Given the description of an element on the screen output the (x, y) to click on. 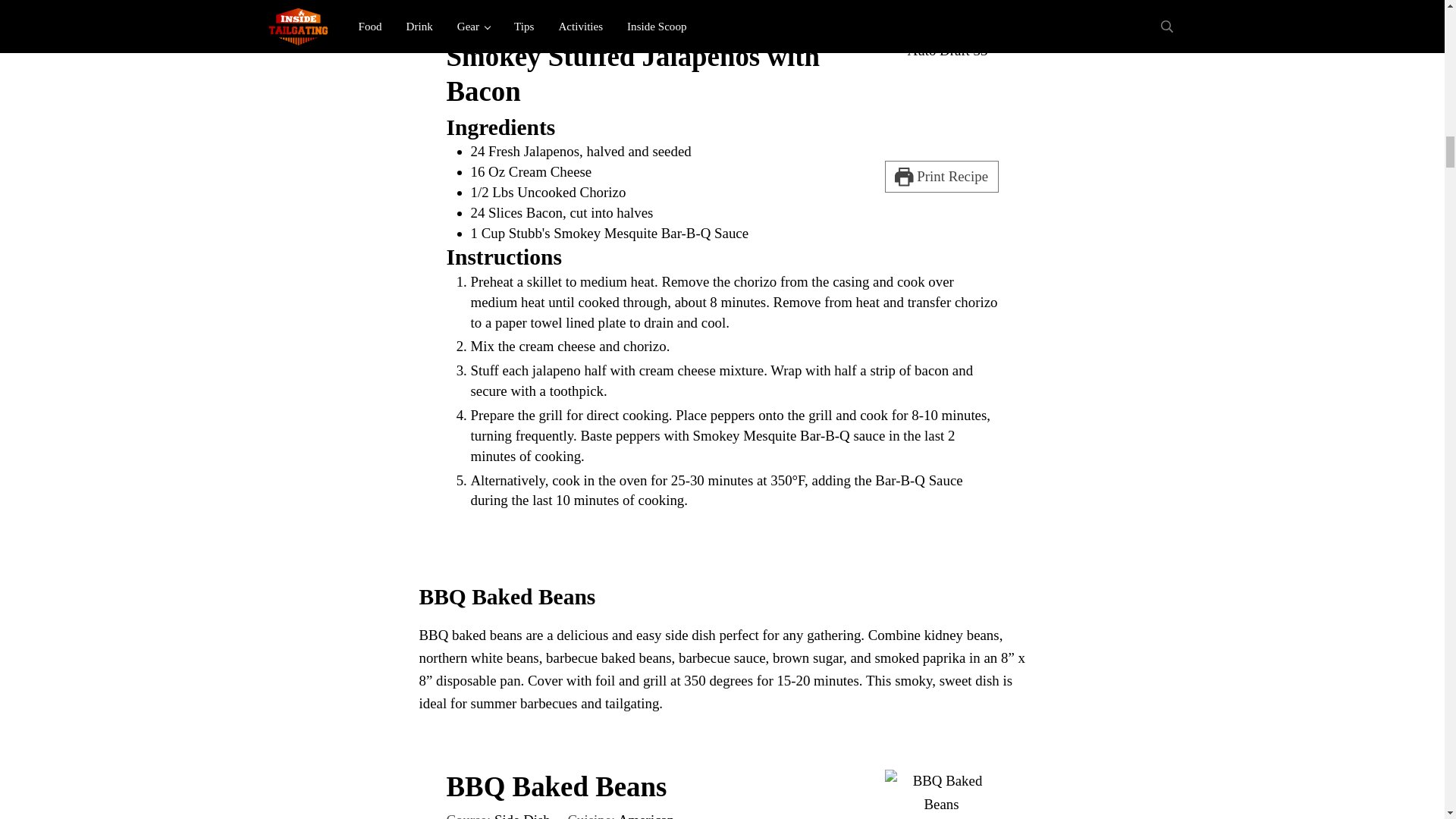
Print Recipe (940, 176)
